Given the description of an element on the screen output the (x, y) to click on. 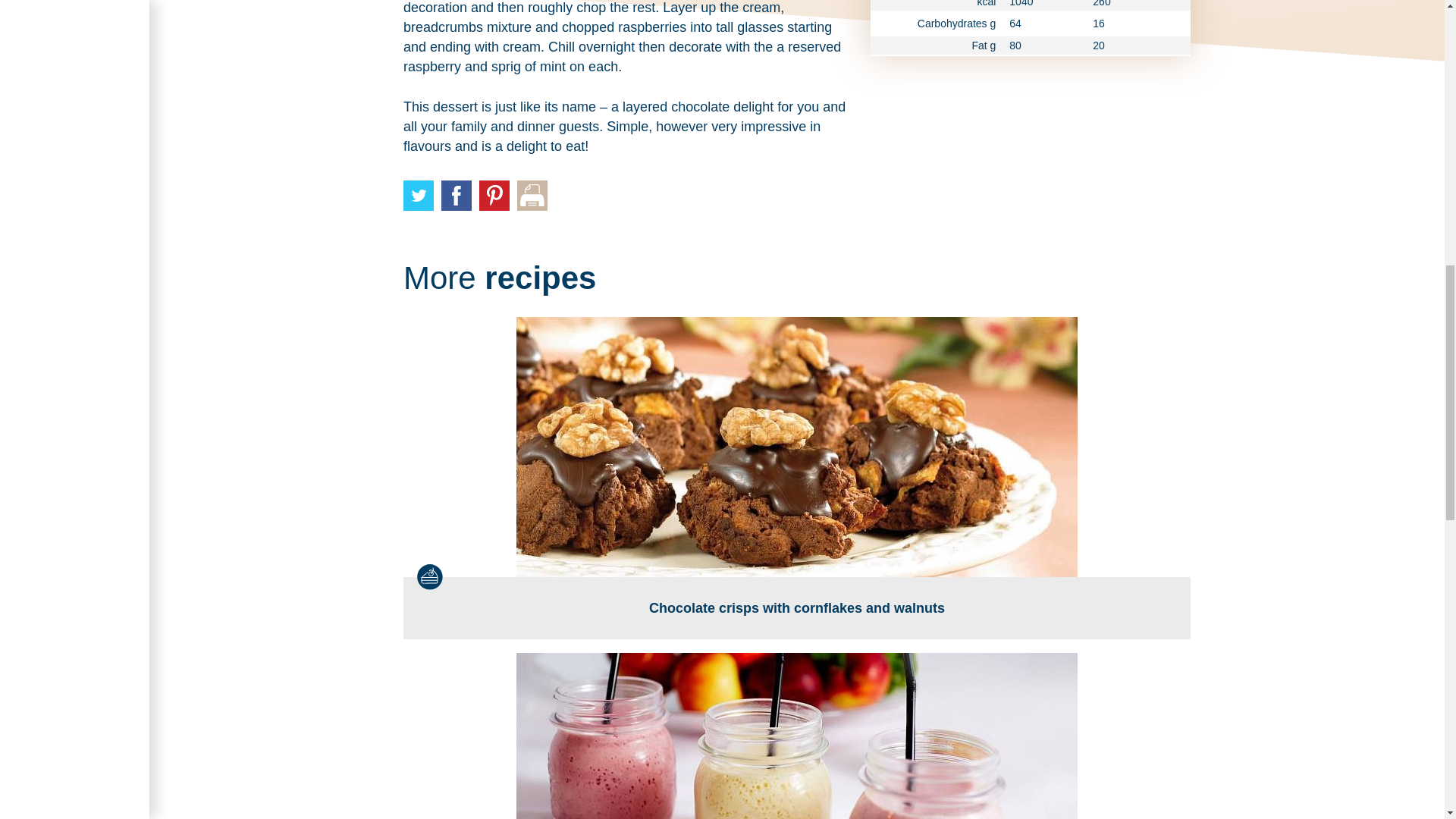
Drucken (531, 195)
Twitter (418, 195)
Pinterest (494, 195)
Smoothies (797, 735)
Facebook (456, 195)
